Given the description of an element on the screen output the (x, y) to click on. 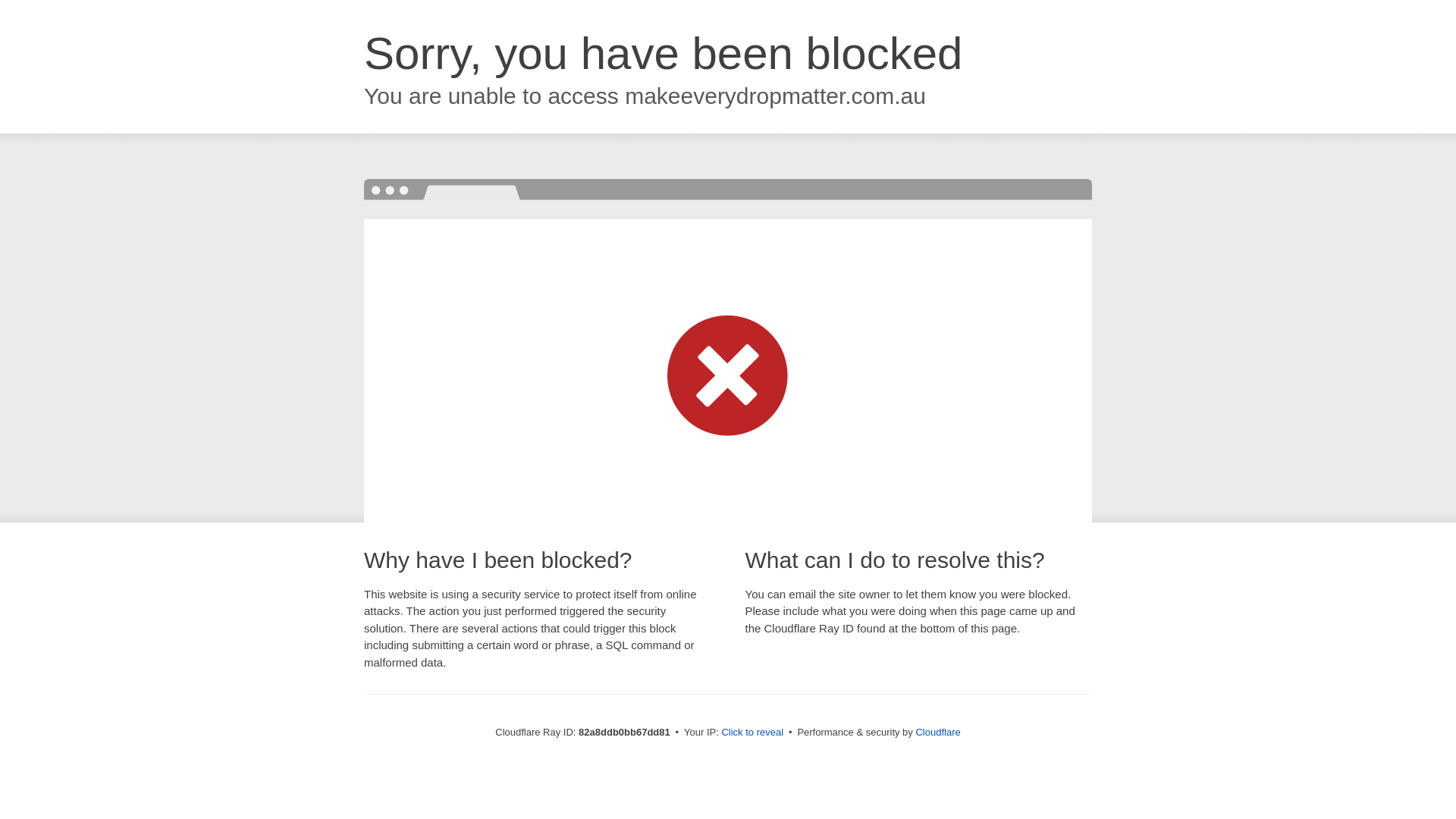
Cloudflare Element type: text (937, 731)
Click to reveal Element type: text (752, 732)
